Given the description of an element on the screen output the (x, y) to click on. 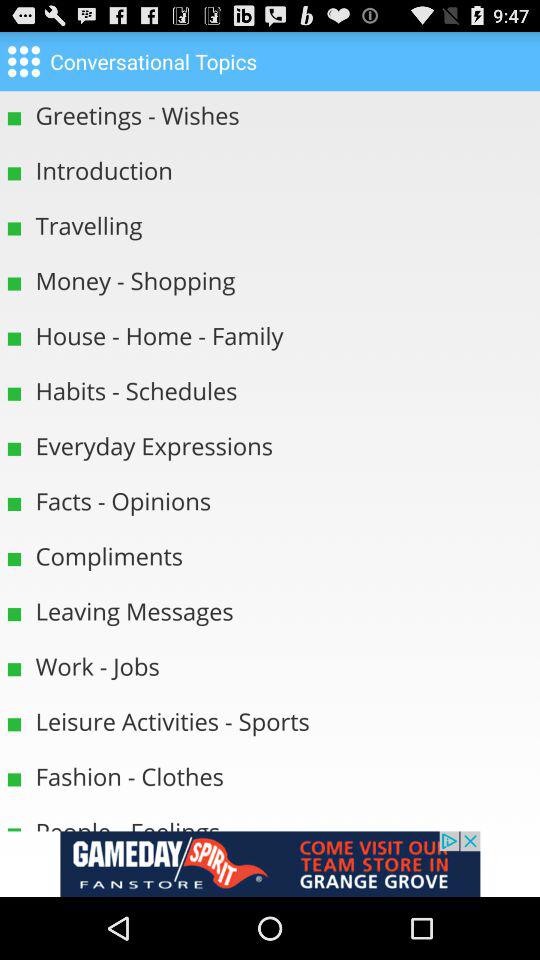
home option (23, 60)
